Given the description of an element on the screen output the (x, y) to click on. 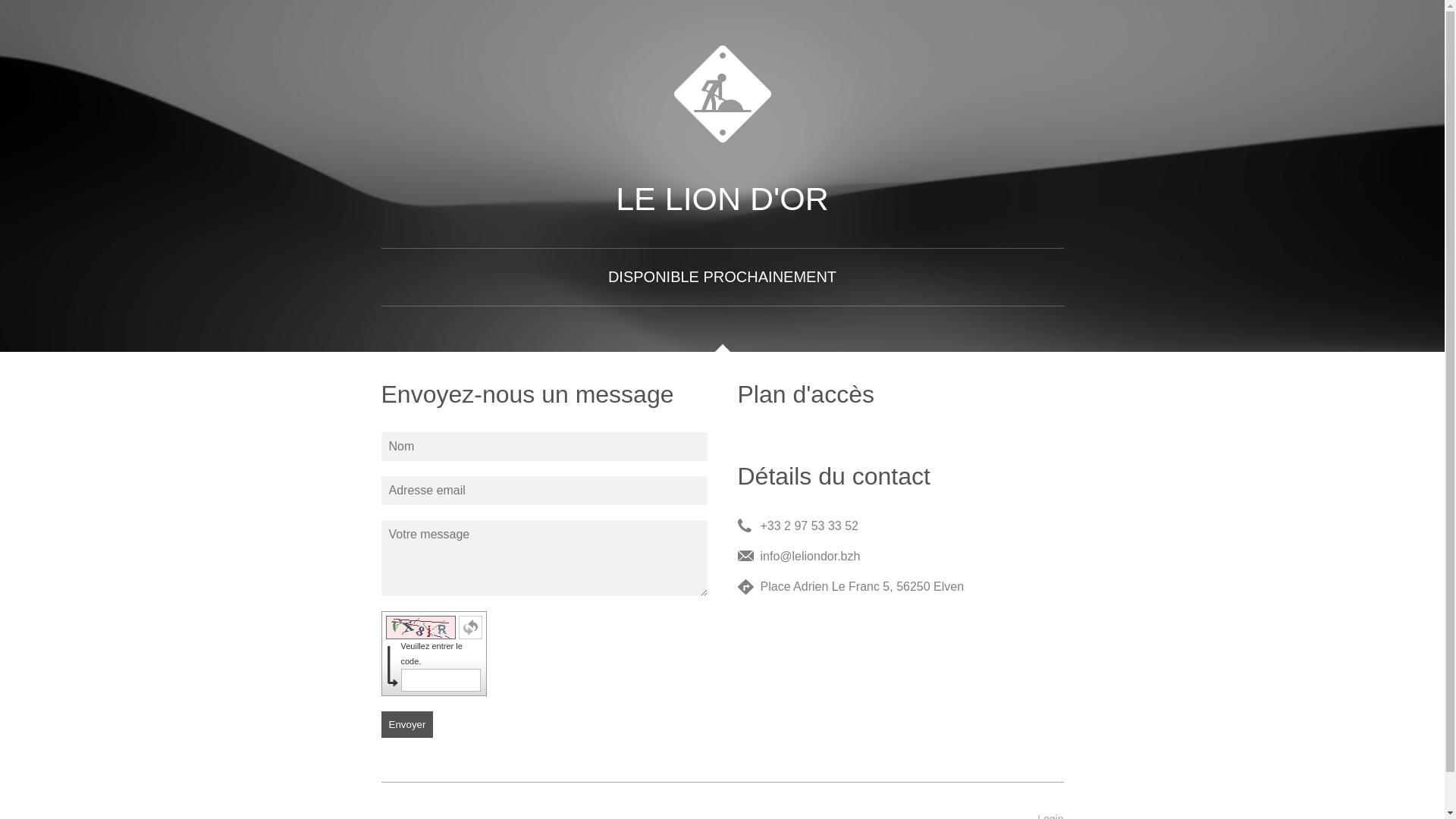
Envoyer Element type: text (406, 724)
